Given the description of an element on the screen output the (x, y) to click on. 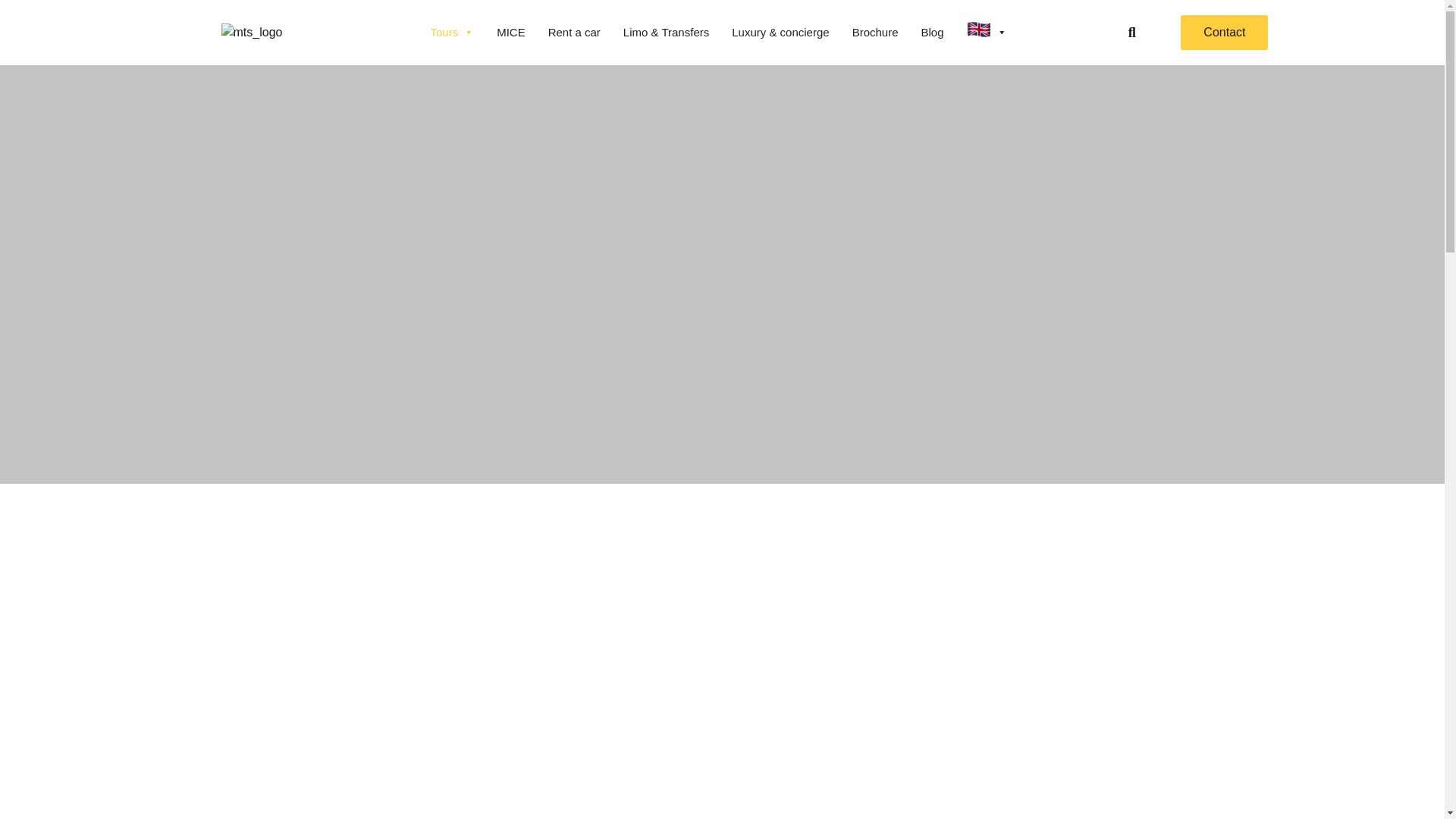
Blog (931, 32)
Contact (1224, 32)
MICE (510, 32)
Brochure (874, 32)
Rent a car (574, 32)
Tours (451, 32)
